Given the description of an element on the screen output the (x, y) to click on. 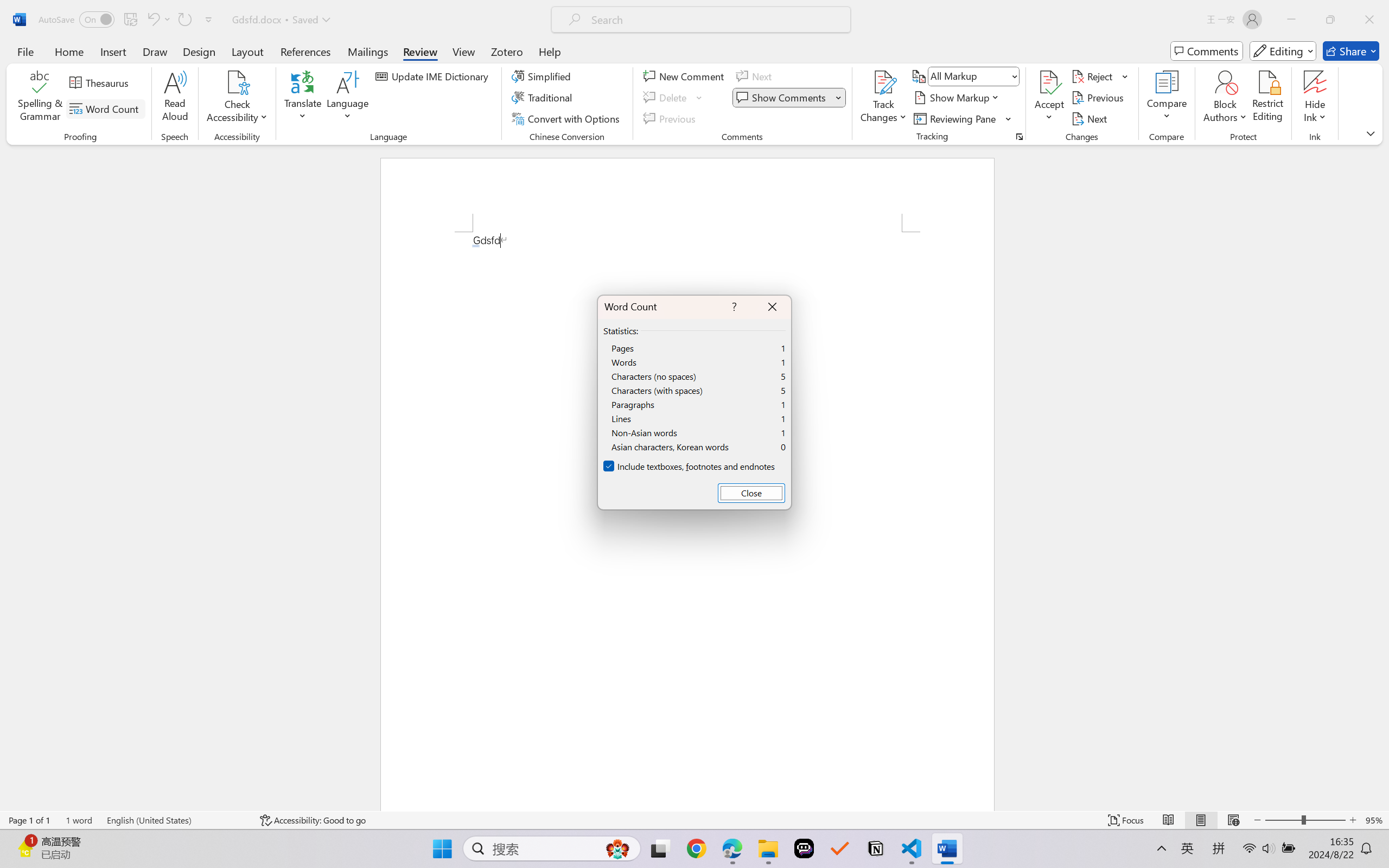
Google Chrome (696, 848)
Action: Undo Auto Actions (475, 245)
Block Authors (1224, 81)
Track Changes (883, 81)
Traditional (543, 97)
Spelling & Grammar (39, 97)
Language (347, 97)
